Given the description of an element on the screen output the (x, y) to click on. 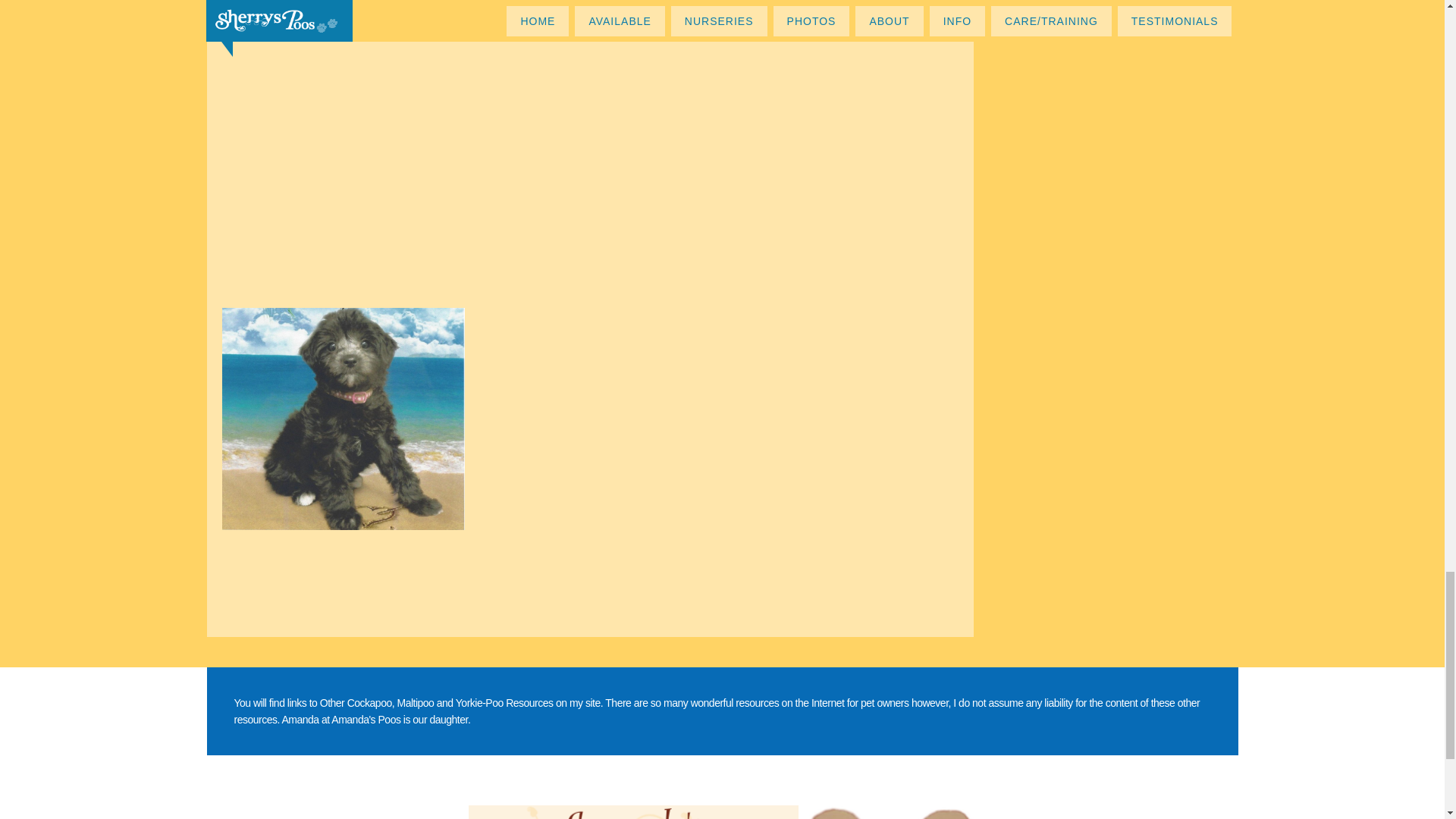
FAQ (342, 418)
